Given the description of an element on the screen output the (x, y) to click on. 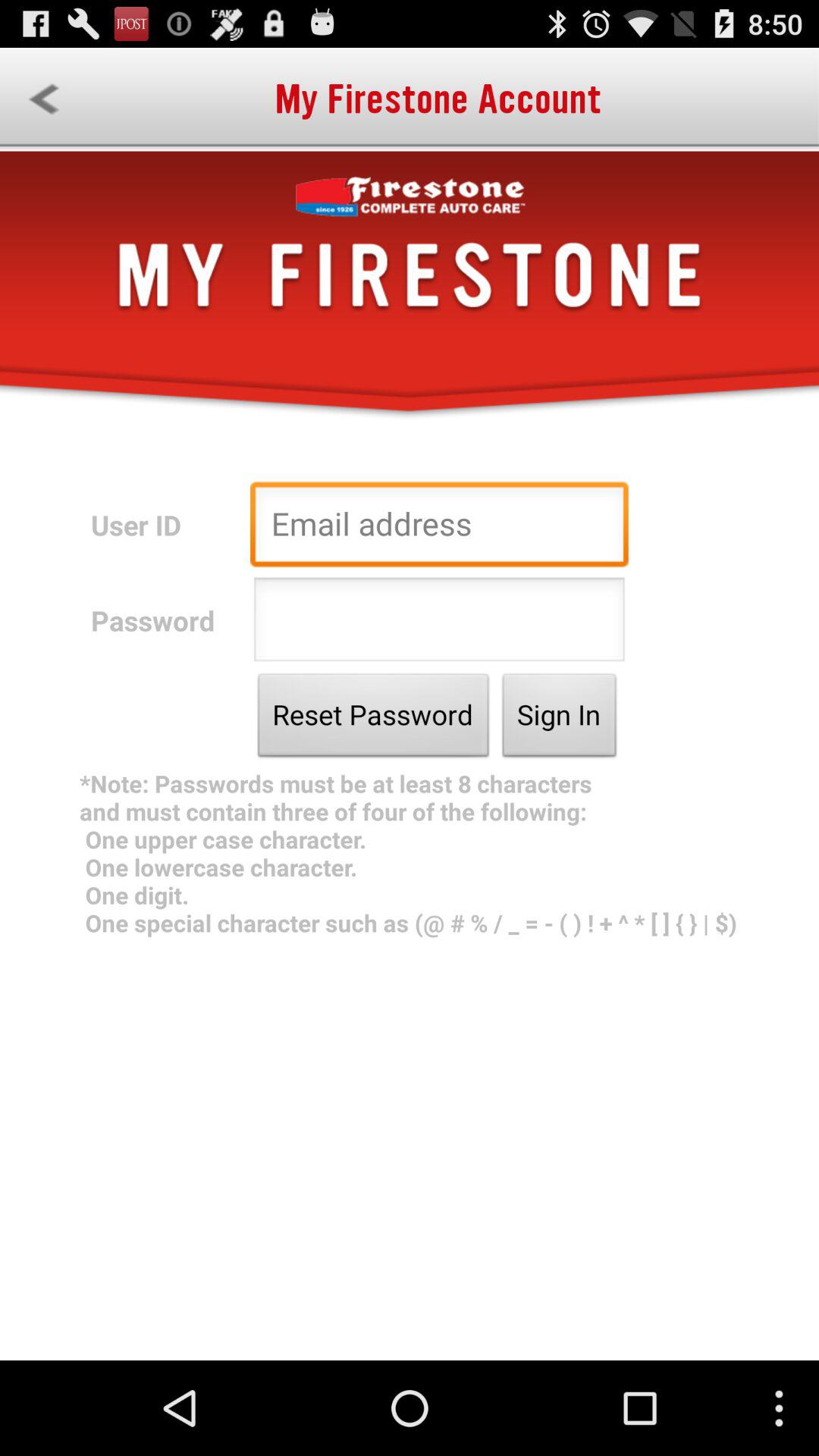
enter the password box (439, 623)
